Given the description of an element on the screen output the (x, y) to click on. 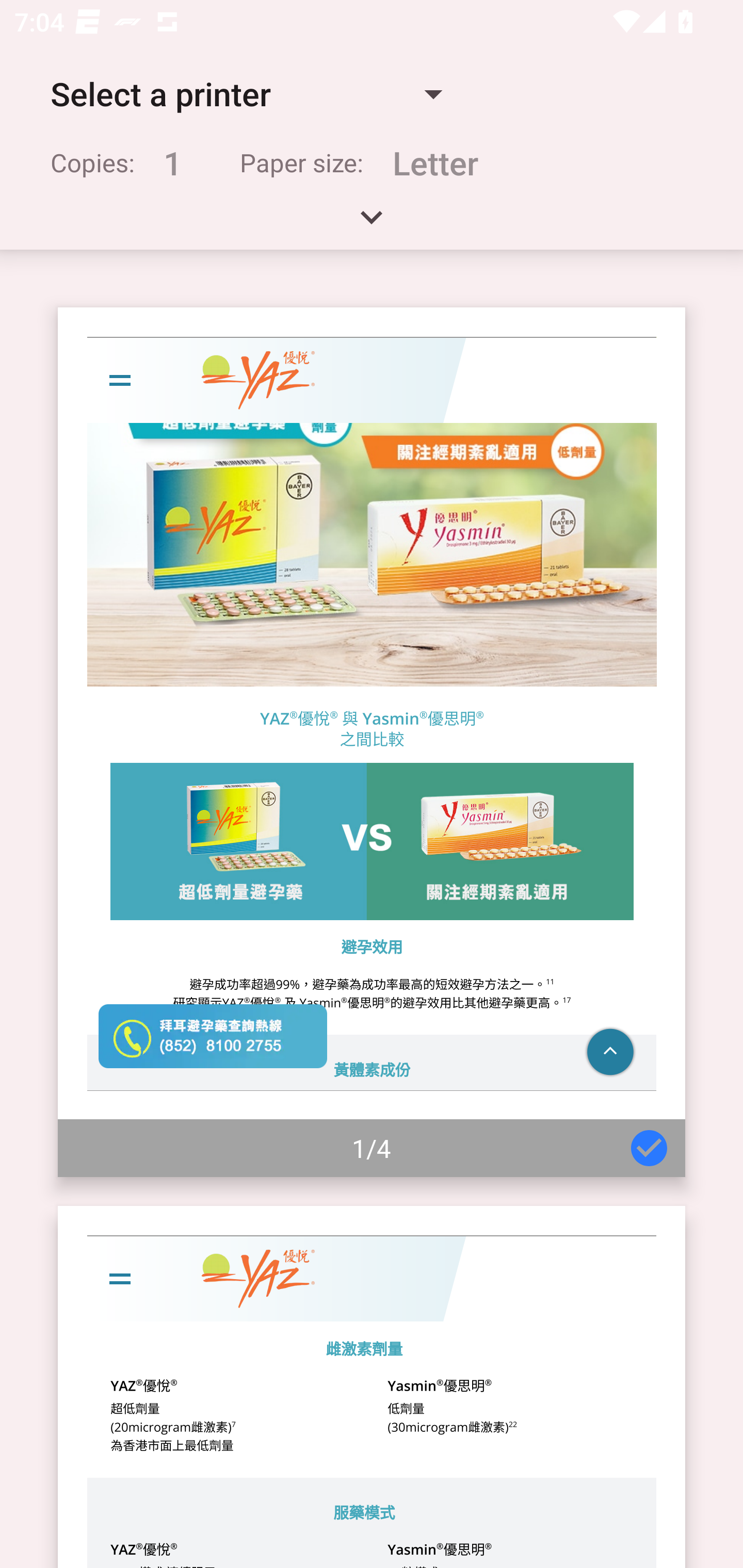
Select a printer (245, 93)
Expand handle (371, 224)
Page 1 of 4 1/4 (371, 742)
Page 2 of 4 (371, 1386)
